Given the description of an element on the screen output the (x, y) to click on. 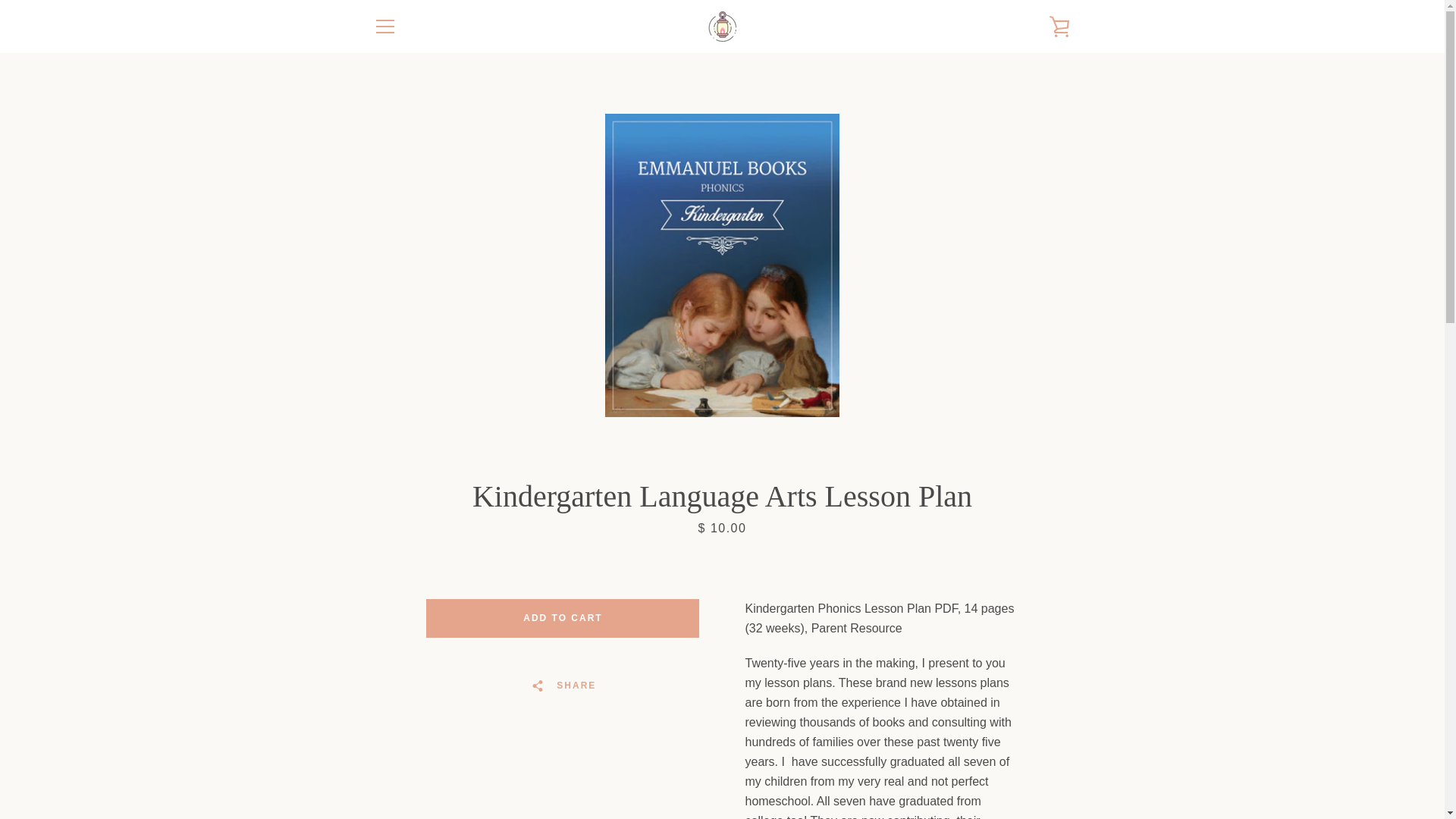
VIEW CART (1059, 26)
SHARE (563, 685)
EXPAND NAVIGATION (384, 26)
ADD TO CART (562, 617)
